Given the description of an element on the screen output the (x, y) to click on. 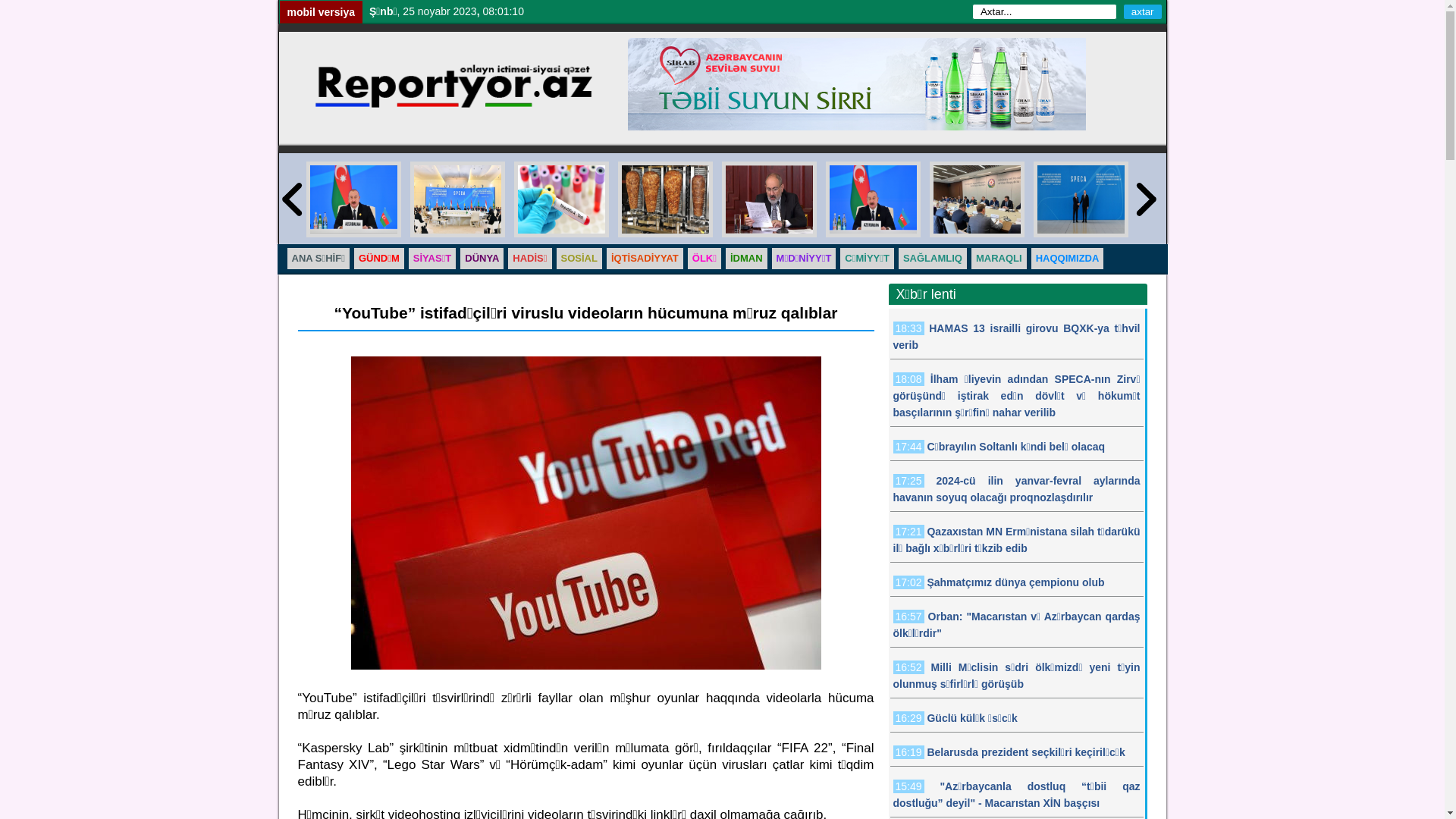
mobil versiya Element type: text (320, 11)
axtar Element type: text (1142, 11)
MARAQLI Element type: text (998, 258)
HAQQIMIZDA Element type: text (1067, 258)
